Given the description of an element on the screen output the (x, y) to click on. 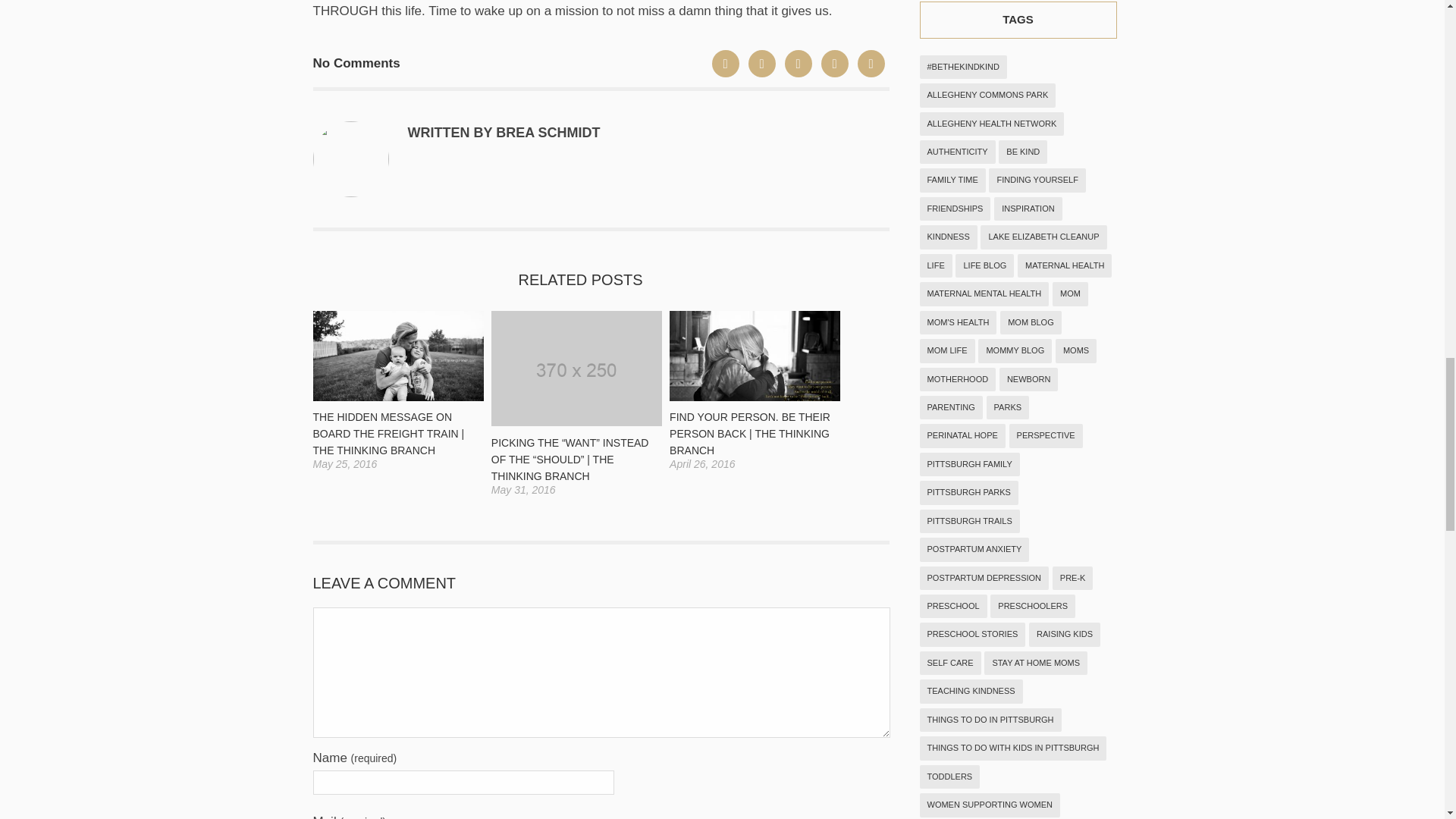
No Comments (355, 63)
